Given the description of an element on the screen output the (x, y) to click on. 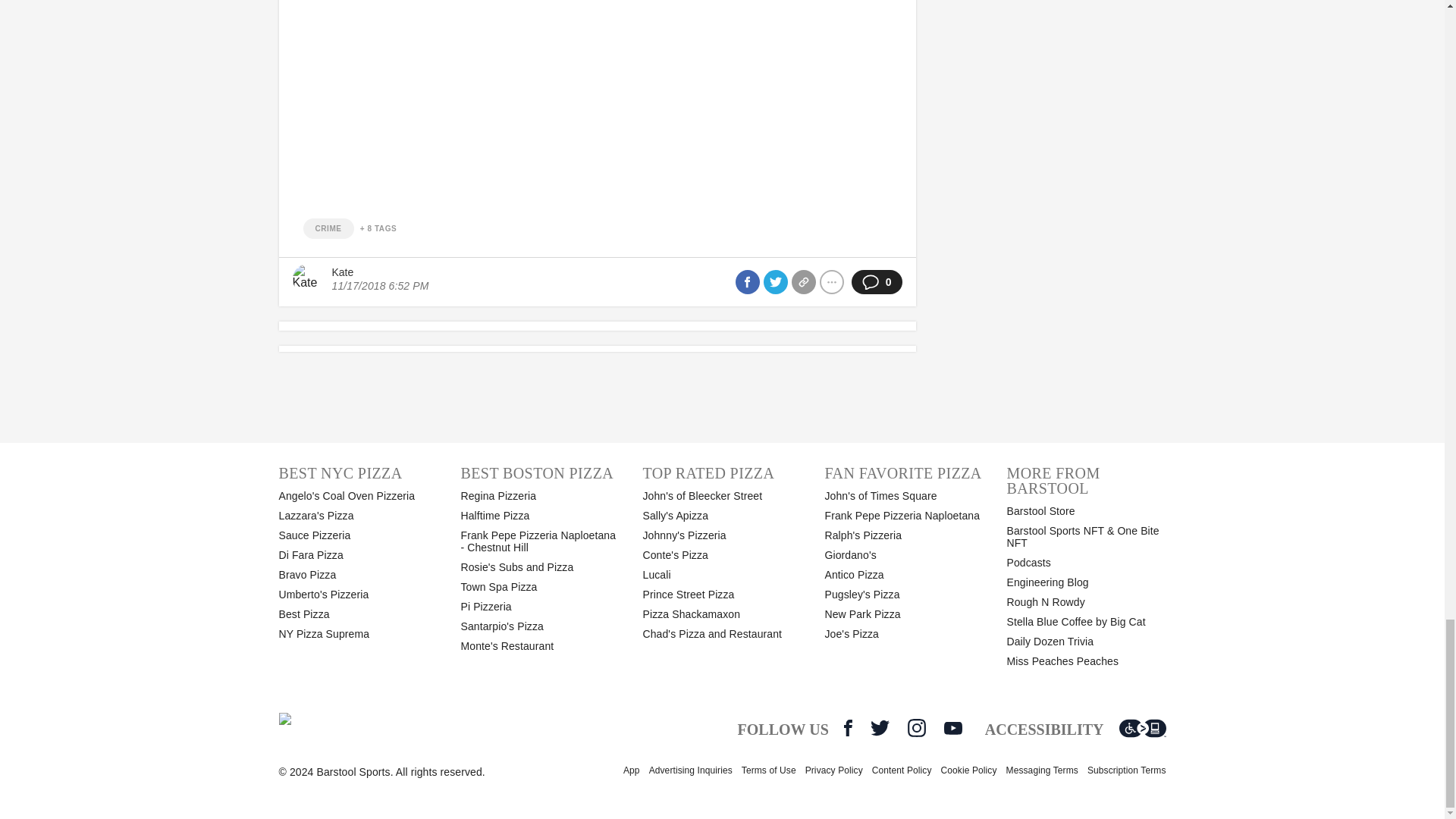
Level Access website accessibility icon (1142, 728)
Instagram Icon (916, 728)
Twitter Icon (879, 728)
YouTube Icon (952, 728)
